Given the description of an element on the screen output the (x, y) to click on. 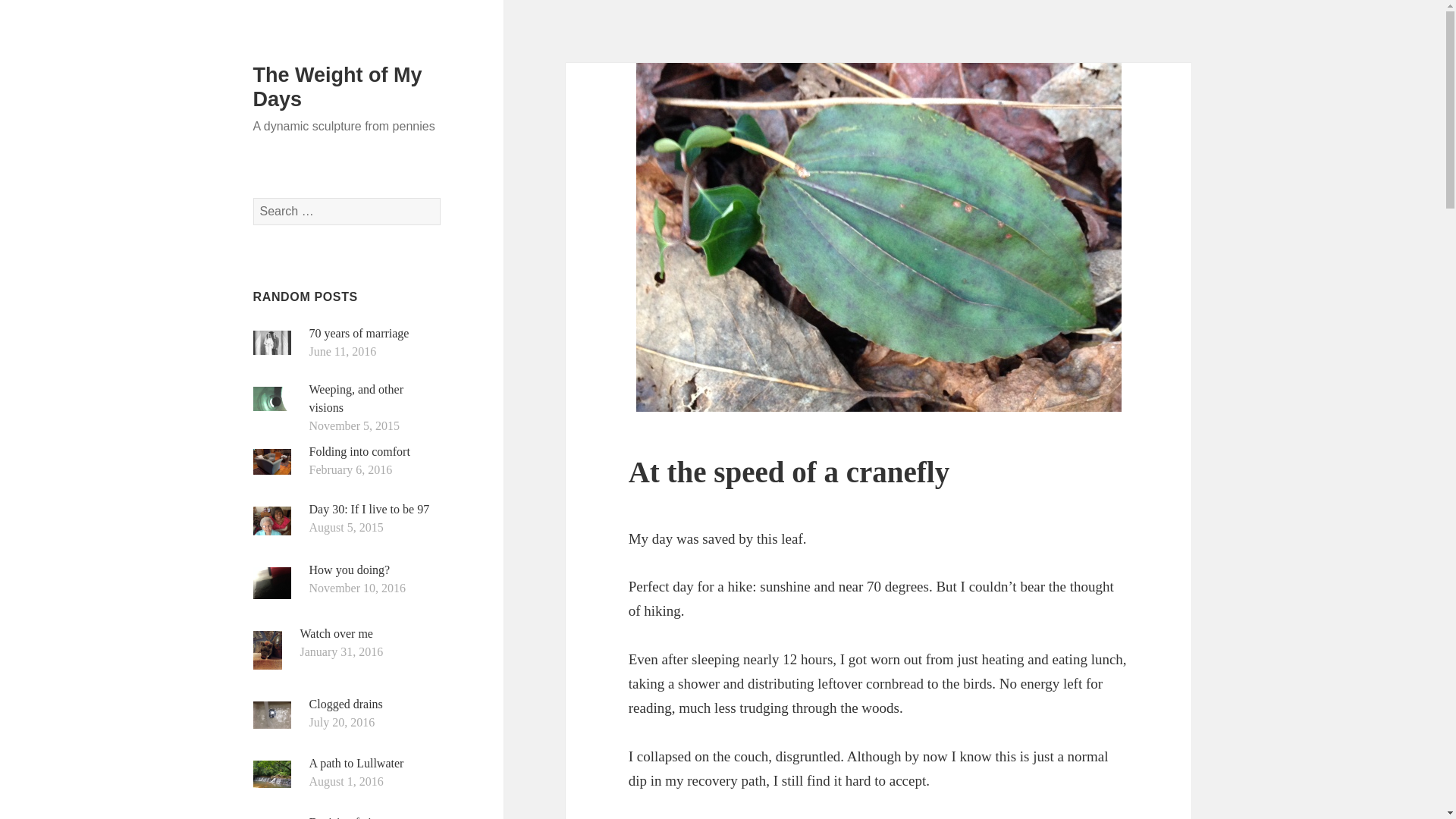
How you doing? (349, 569)
Clogged drains (345, 703)
Day 30: If I live to be 97 (368, 508)
The Weight of My Days (337, 86)
Folding into comfort (359, 451)
A path to Lullwater (356, 762)
Weeping, and other visions (355, 398)
Decision fatigue (348, 817)
70 years of marriage (358, 332)
Watch over me (335, 633)
